Given the description of an element on the screen output the (x, y) to click on. 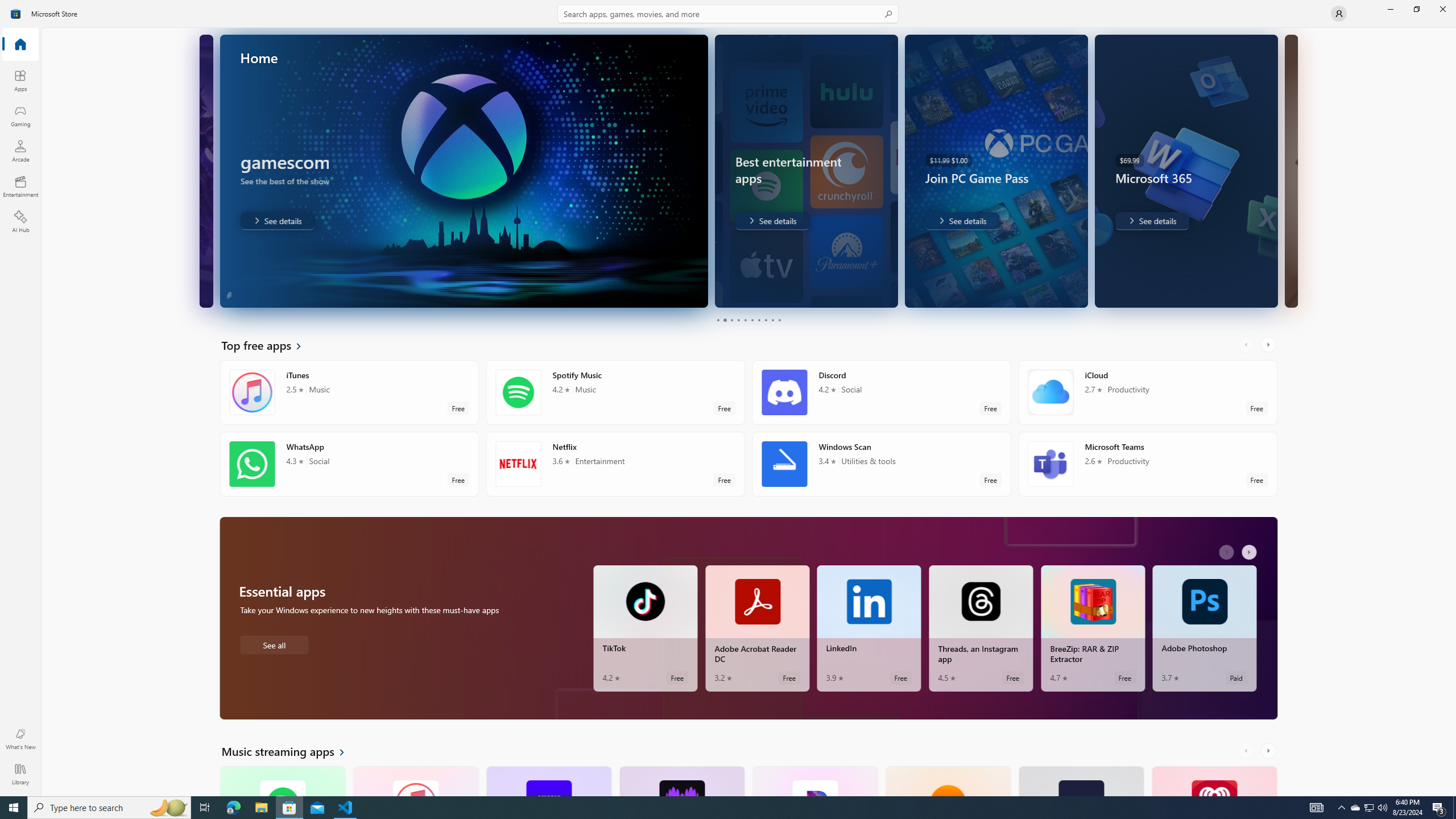
gamescom. See the best of the show.  . See details (277, 221)
Pager (748, 319)
Class: Image (15, 13)
Search (727, 13)
User profile (1338, 13)
Apps (20, 80)
See all  Top free apps (268, 345)
What's New (20, 738)
WhatsApp. Average rating of 4.3 out of five stars. Free   (349, 463)
Page 3 (731, 319)
Page 9 (772, 319)
AutomationID: LeftScrollButton (1246, 750)
Gaming (20, 115)
